Given the description of an element on the screen output the (x, y) to click on. 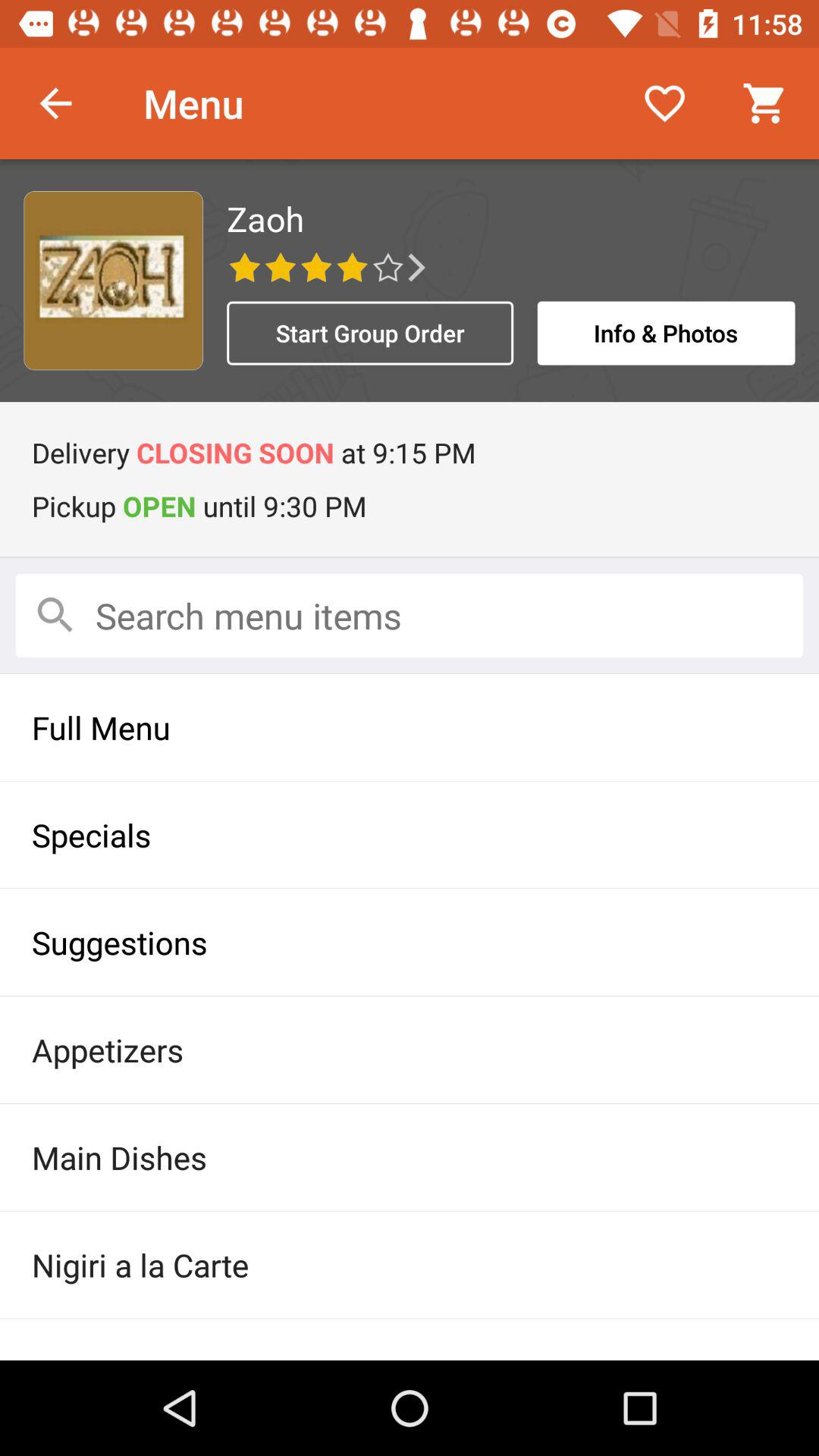
press appetizers icon (409, 1049)
